Given the description of an element on the screen output the (x, y) to click on. 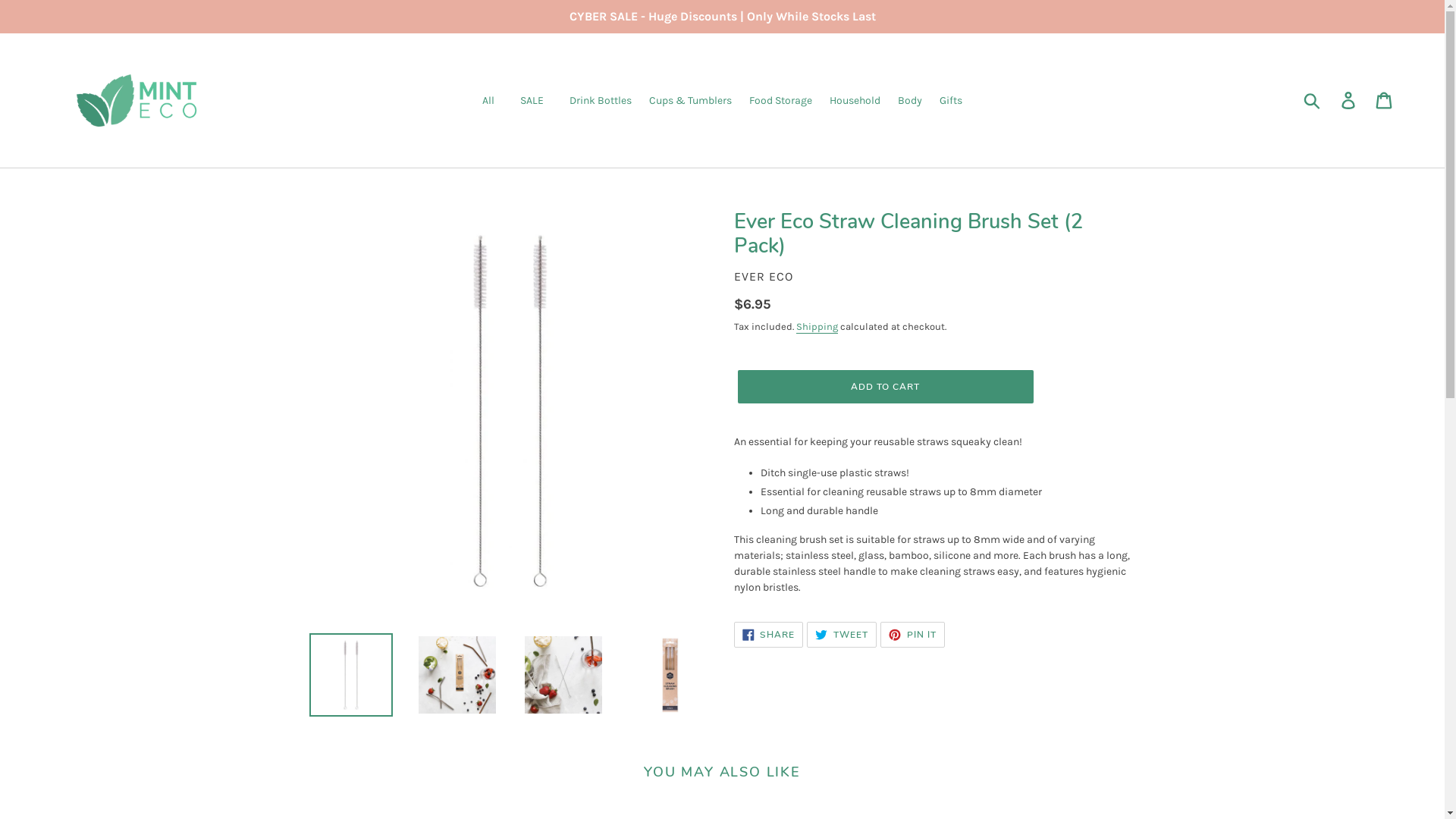
CYBER SALE - Huge Discounts | Only While Stocks Last Element type: text (722, 16)
Household Element type: text (855, 100)
SHARE
SHARE ON FACEBOOK Element type: text (768, 634)
Drink Bottles Element type: text (600, 100)
Gifts Element type: text (950, 100)
Cart Element type: text (1384, 100)
Shipping Element type: text (816, 326)
Submit Element type: text (1312, 99)
Cups & Tumblers Element type: text (690, 100)
ADD TO CART Element type: text (884, 386)
All Element type: text (488, 100)
Log in Element type: text (1349, 100)
Food Storage Element type: text (780, 100)
PIN IT
PIN ON PINTEREST Element type: text (912, 634)
TWEET
TWEET ON TWITTER Element type: text (841, 634)
Body Element type: text (909, 100)
